Given the description of an element on the screen output the (x, y) to click on. 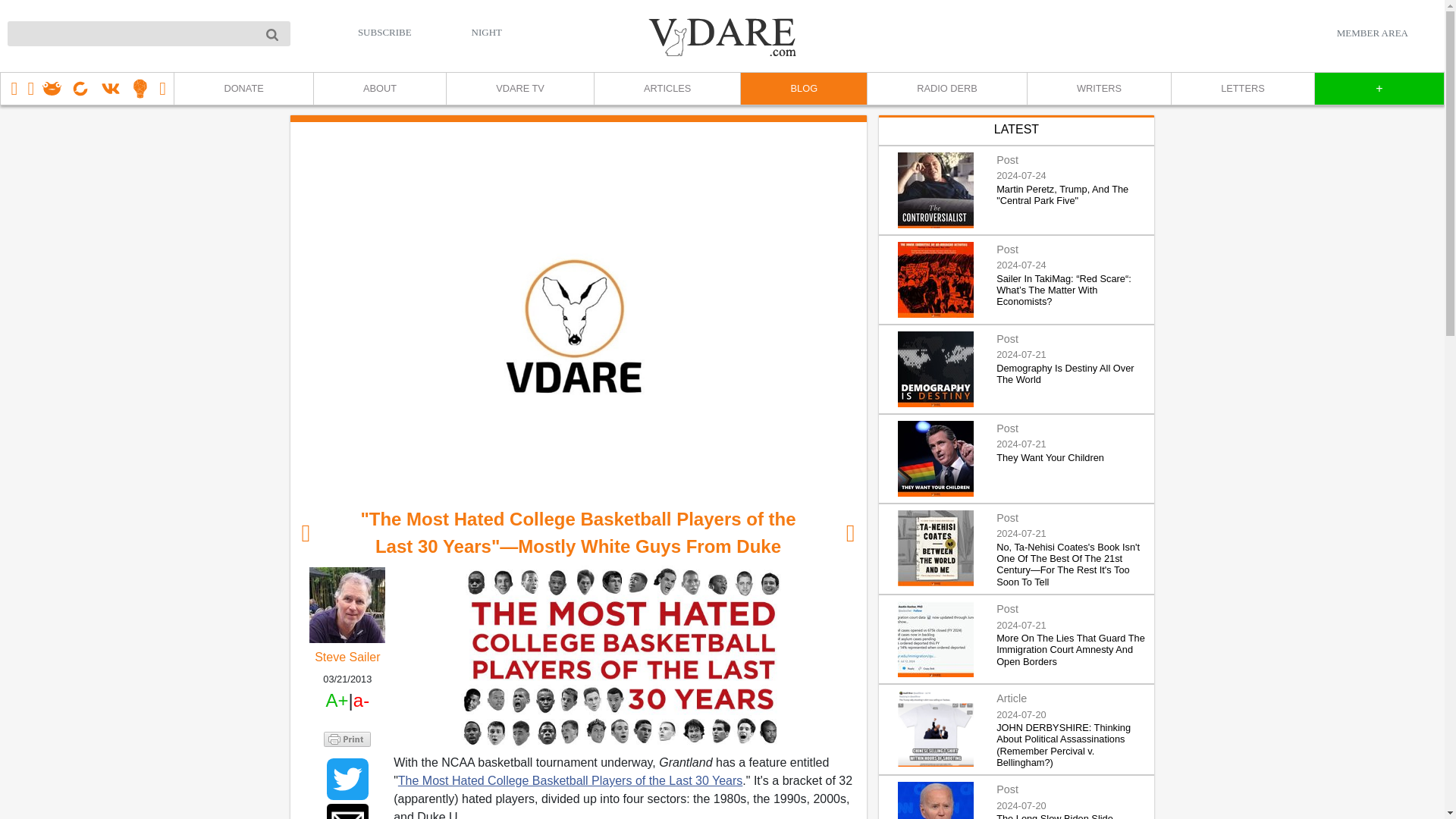
MEMBER AREA (1371, 32)
VDARE TV (519, 88)
Share to Email (347, 811)
DONATE (243, 88)
SUBSCRIBE (385, 31)
BLOG (802, 88)
ARTICLES (666, 88)
Share to Twitter (347, 779)
ABOUT (379, 88)
WRITERS (1098, 88)
RADIO DERB (946, 88)
LETTERS (1242, 88)
Printer Friendly and PDF (347, 737)
